Given the description of an element on the screen output the (x, y) to click on. 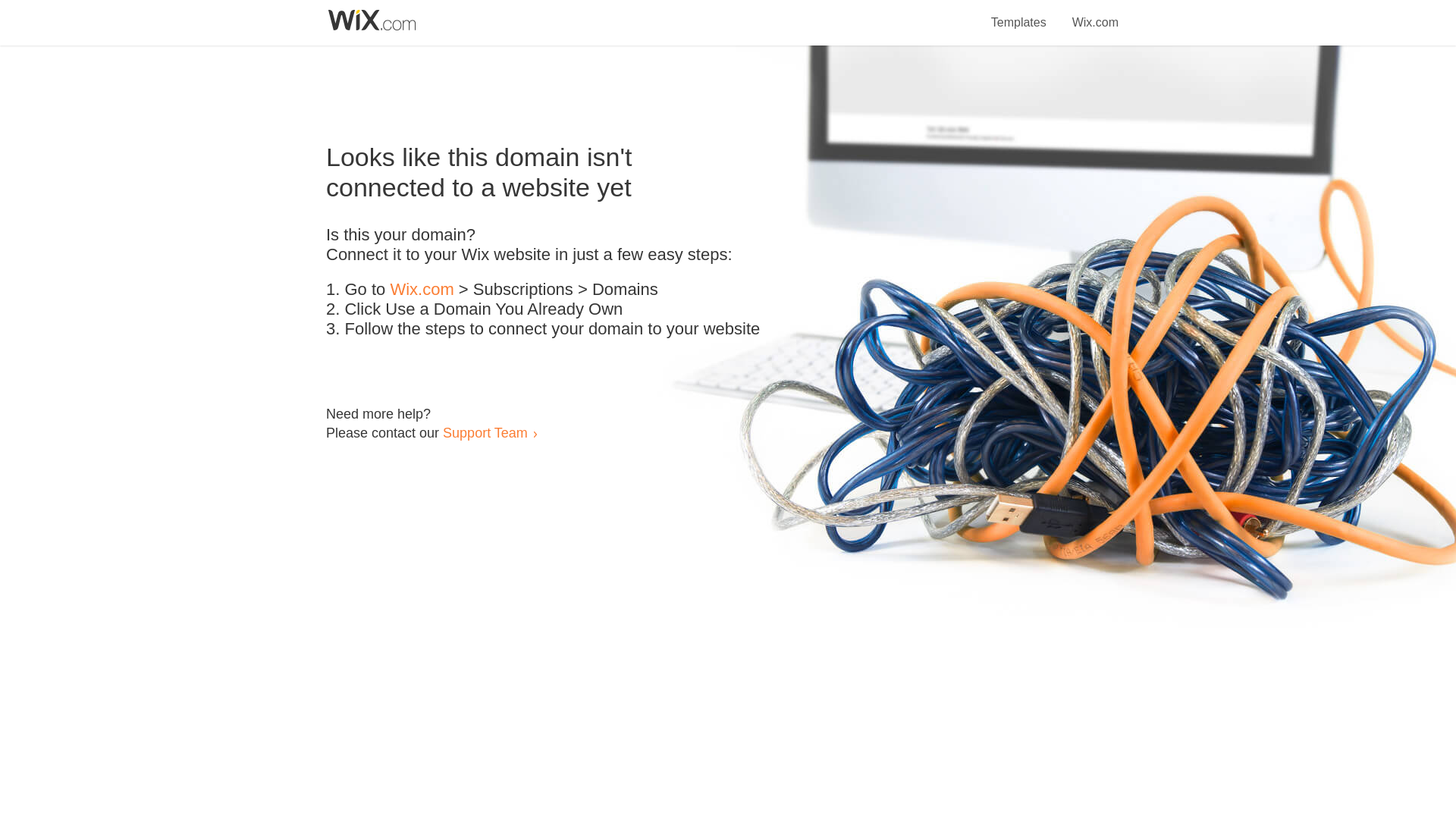
Support Team (484, 432)
Wix.com (421, 289)
Templates (1018, 14)
Wix.com (1095, 14)
